Given the description of an element on the screen output the (x, y) to click on. 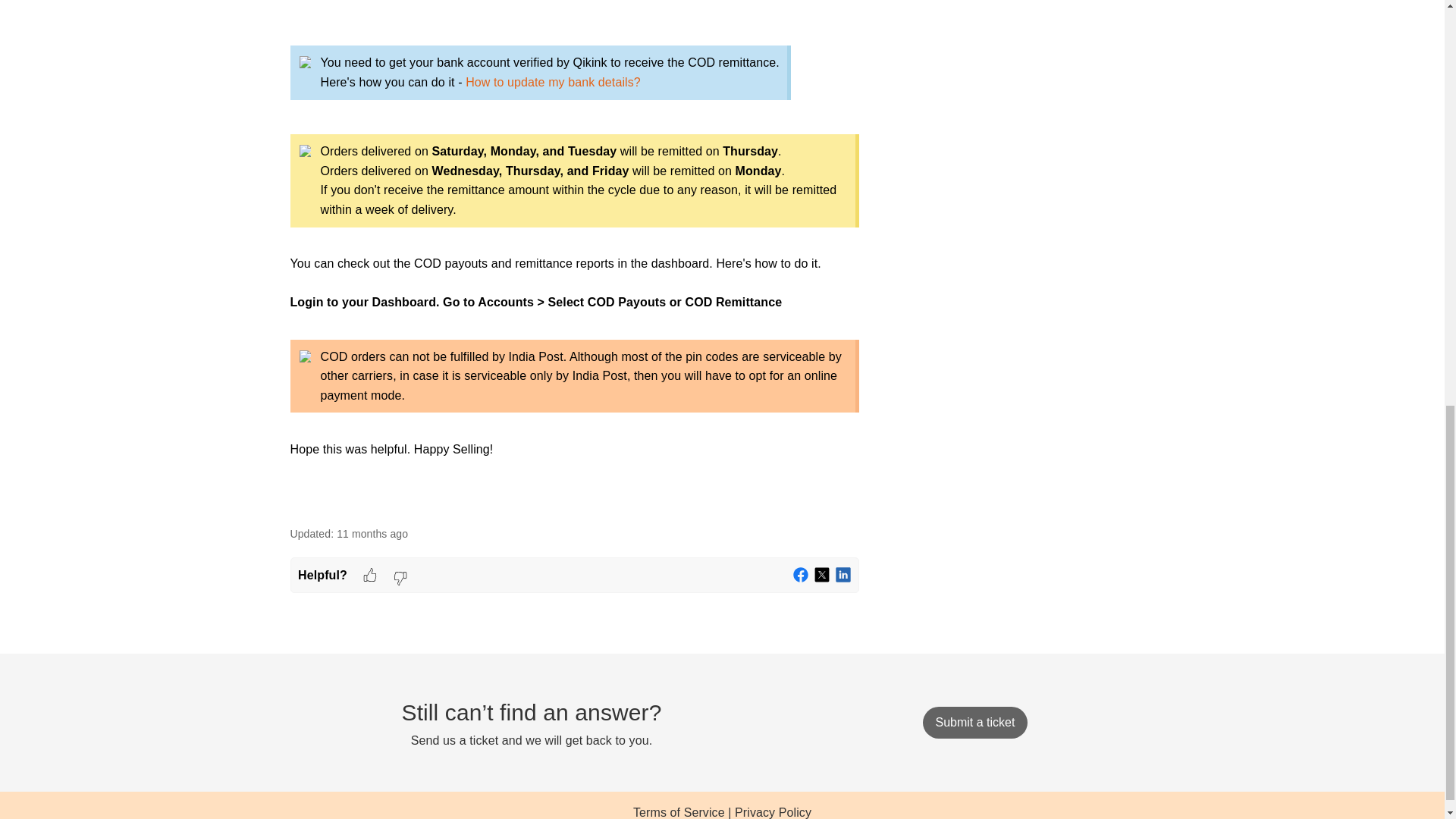
Submit a ticket (974, 721)
LinkedIn (842, 574)
Terms of Service (679, 812)
Submit a ticket (974, 722)
How to update my bank details? (552, 82)
Twitter (821, 574)
29 Jul 2023 06:05 PM (371, 533)
Privacy Policy (772, 812)
Facebook (800, 574)
